Given the description of an element on the screen output the (x, y) to click on. 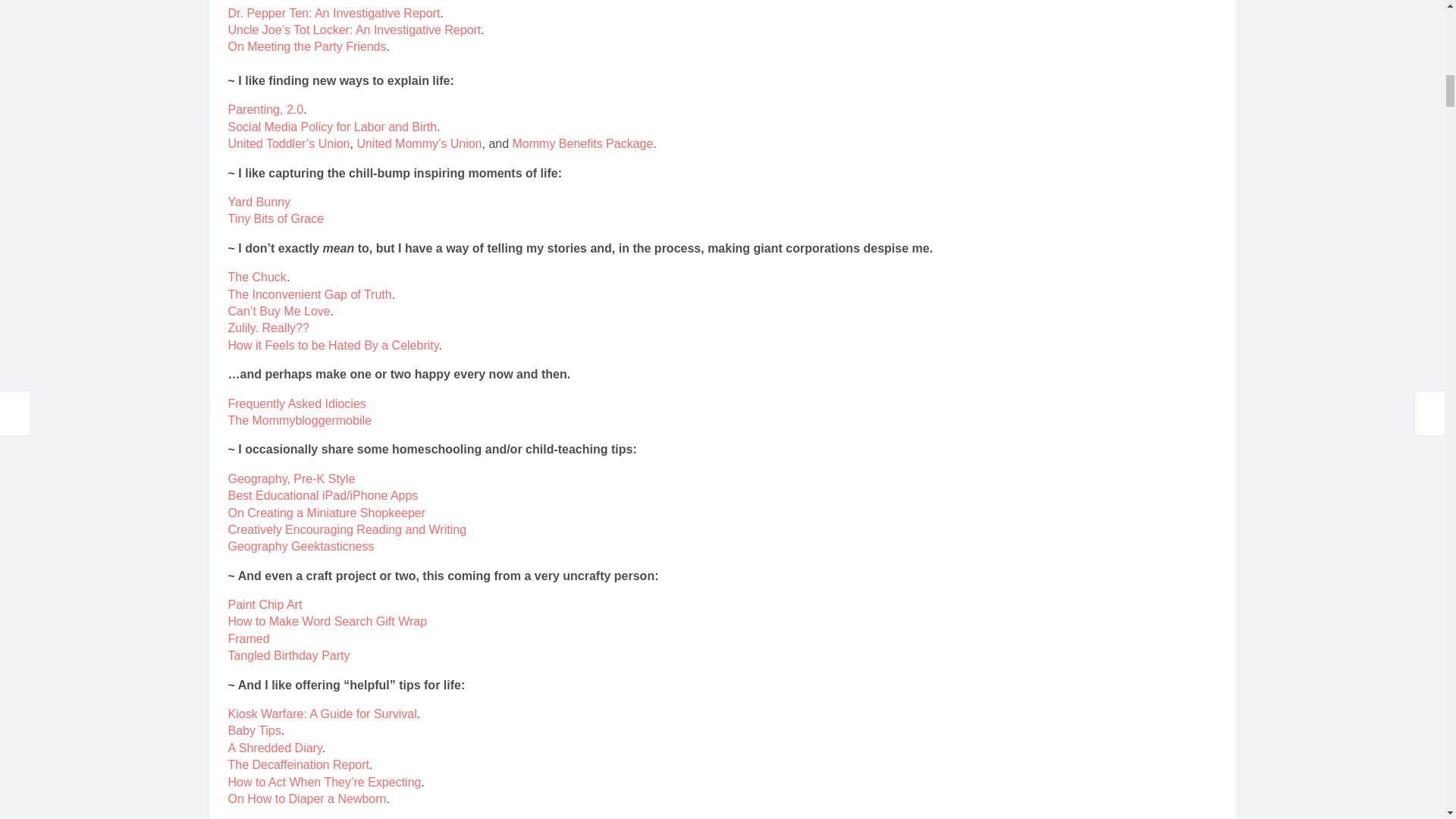
On Meeting the Party Friends (306, 46)
Mommy Benefits Package (582, 143)
Dr. Pepper Ten: An Investigative Report (333, 12)
How it Feels to be Hated By a Celebrity (332, 345)
The Inconvenient Gap of Truth (309, 294)
On Creating a Miniature Shopkeeper (326, 512)
Frequently Asked Idiocies (296, 403)
The Chuck (256, 277)
Geography, Pre-K Style (291, 478)
Yard Bunny (258, 201)
